Given the description of an element on the screen output the (x, y) to click on. 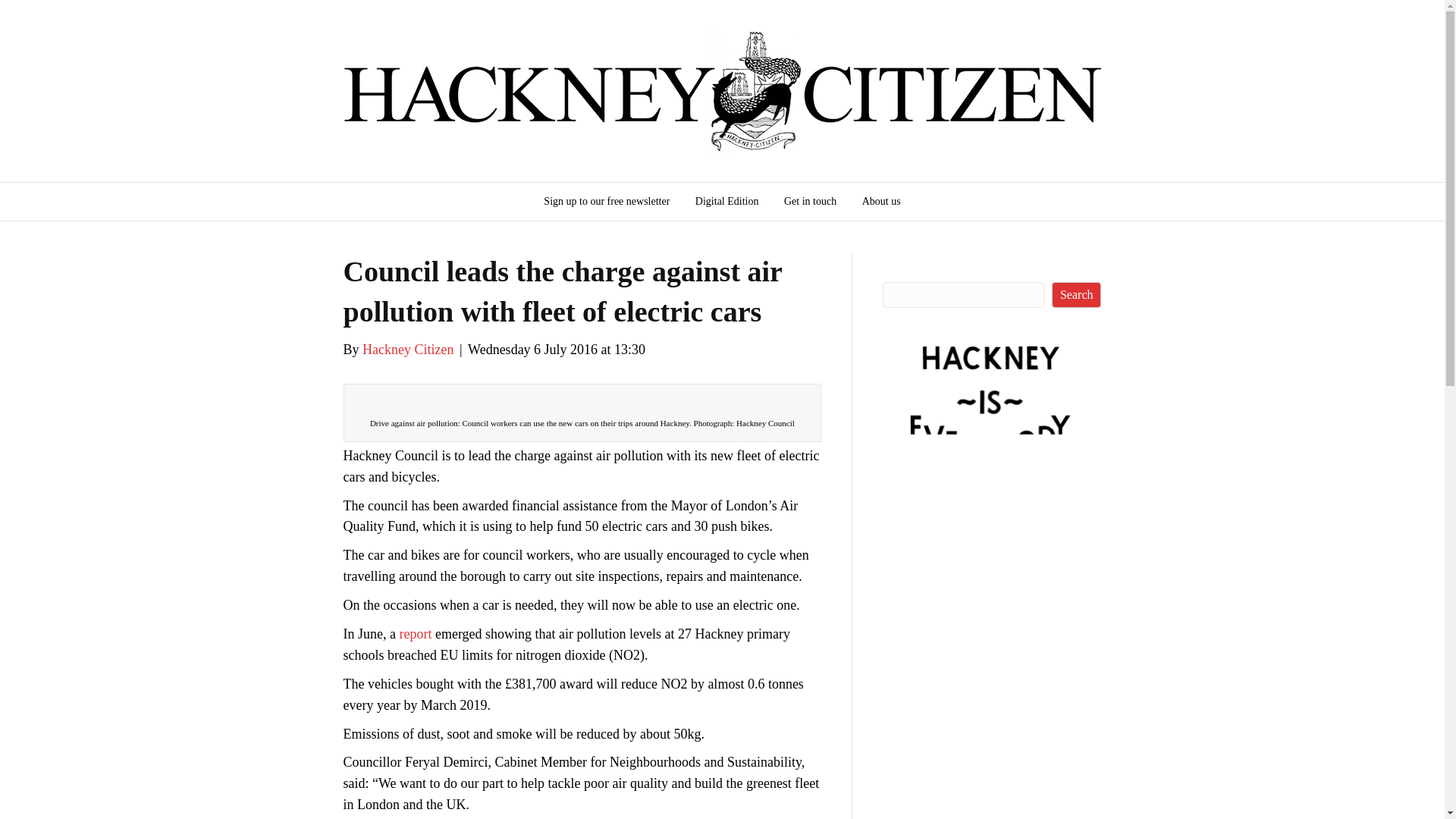
Hackney Citizen (407, 349)
Get in touch (810, 201)
report (414, 633)
Digital Edition (727, 201)
Search (1076, 294)
About us (881, 201)
Sign up to our free newsletter (606, 201)
